Given the description of an element on the screen output the (x, y) to click on. 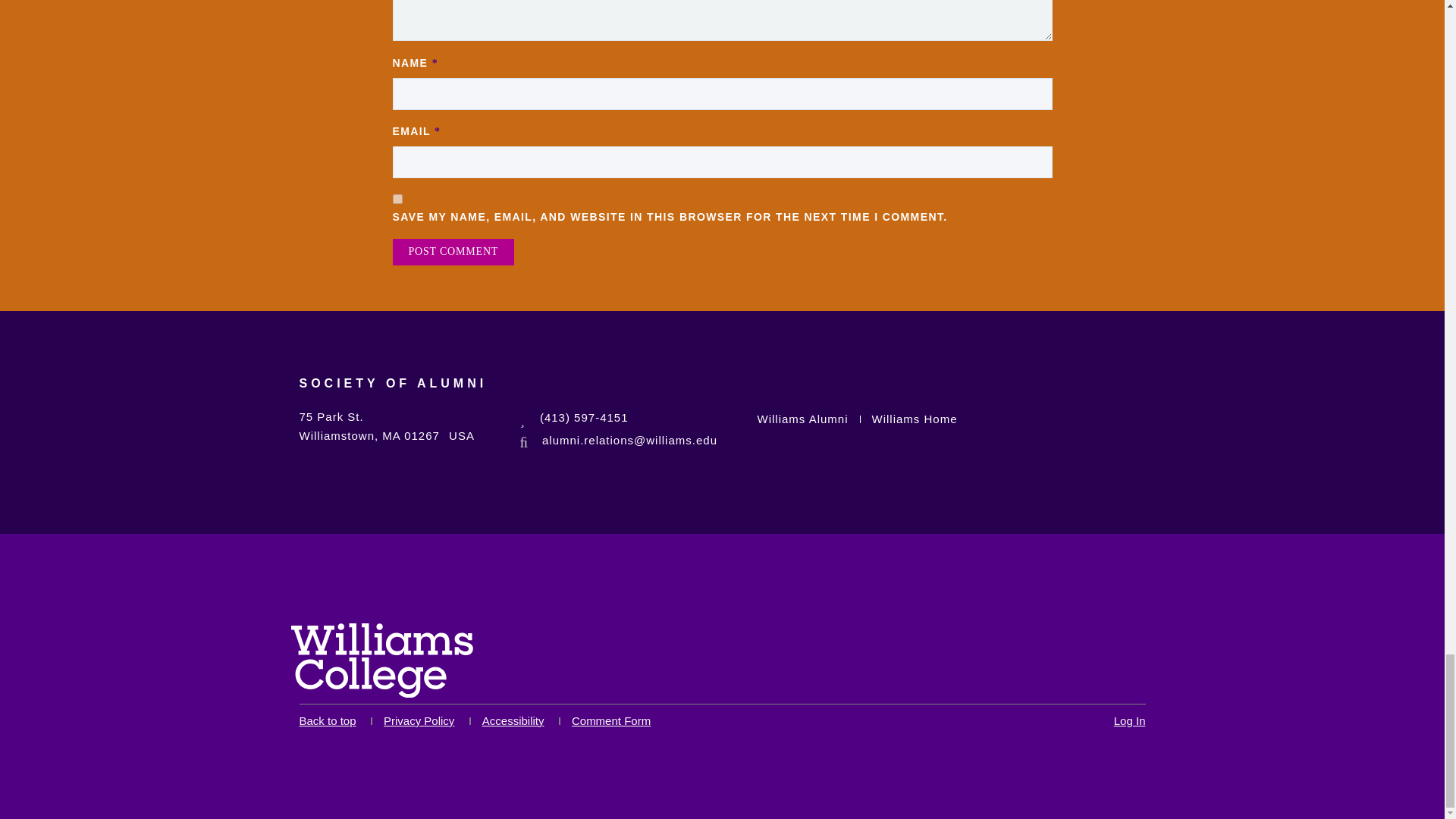
SOCIETY OF ALUMNI (392, 393)
Go to Society of Alumni (392, 393)
Williams College (382, 660)
Go to Williams College (382, 663)
Post Comment (454, 252)
yes (398, 198)
Post Comment (454, 252)
